Given the description of an element on the screen output the (x, y) to click on. 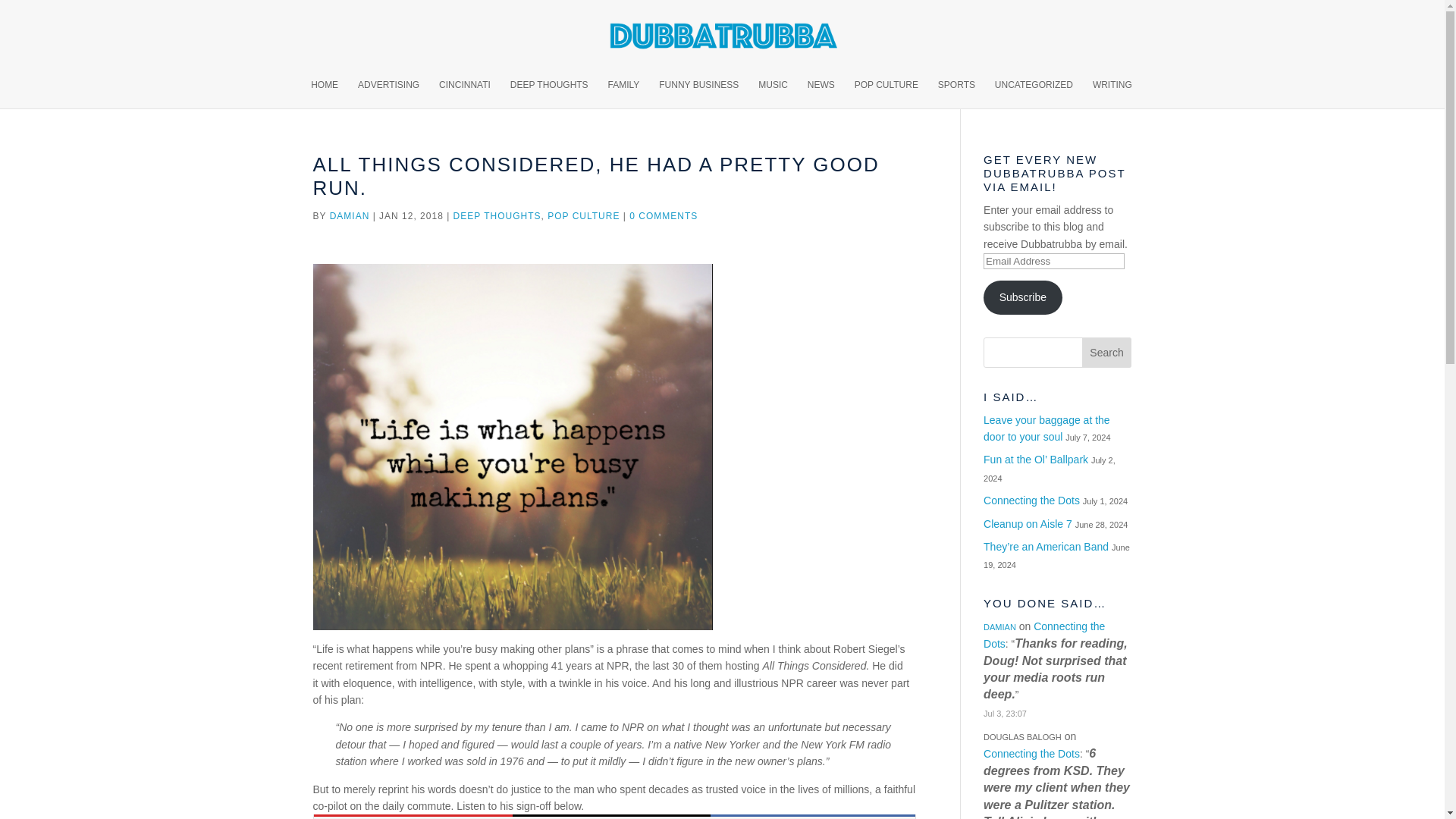
UNCATEGORIZED (1033, 93)
DEEP THOUGHTS (496, 215)
POP CULTURE (583, 215)
MUSIC (772, 93)
CINCINNATI (464, 93)
FAMILY (624, 93)
POP CULTURE (886, 93)
Search (1106, 352)
DAMIAN (349, 215)
SPORTS (956, 93)
FUNNY BUSINESS (698, 93)
Posts by Damian (349, 215)
ADVERTISING (388, 93)
HOME (324, 93)
